Given the description of an element on the screen output the (x, y) to click on. 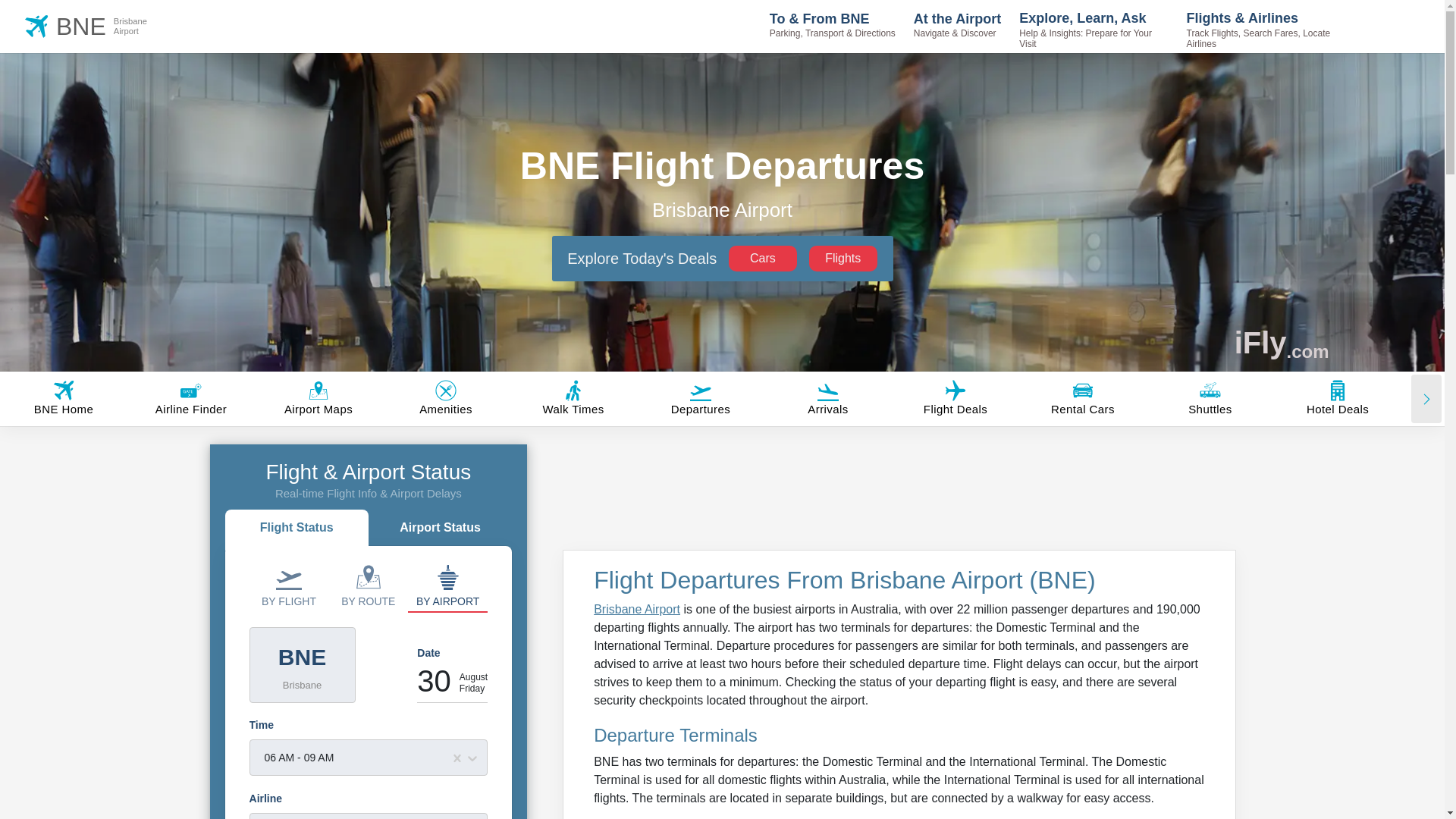
Flights (98, 26)
By Route (843, 258)
iFly.com (368, 584)
Cars (1281, 342)
By Airport (762, 258)
Flight Status (447, 584)
By Flight (296, 529)
Airport Status (288, 584)
